Given the description of an element on the screen output the (x, y) to click on. 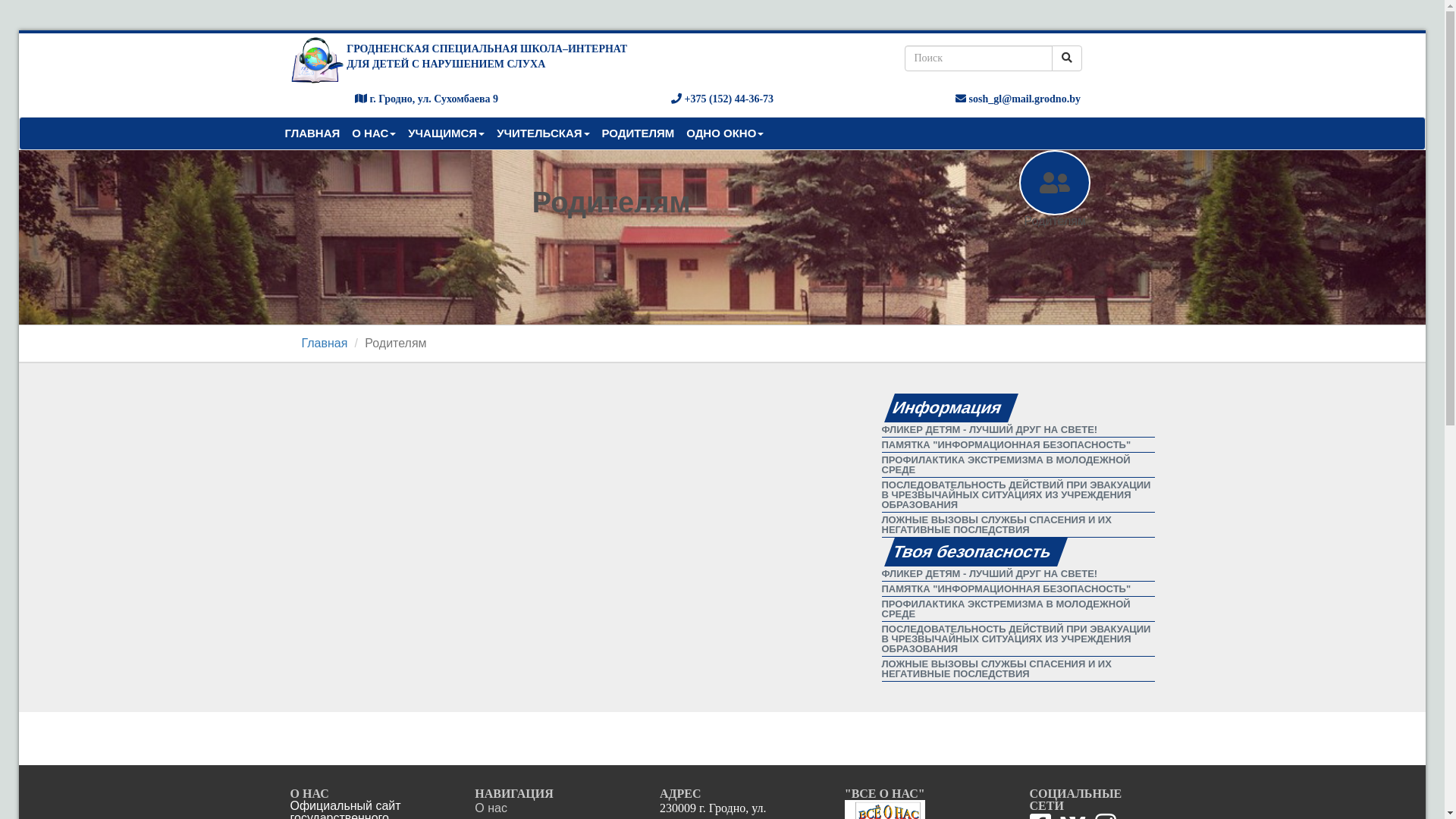
sosh_gl@mail.grodno.by Element type: text (1017, 98)
+375 (152) 44-36-73 Element type: text (722, 98)
